Given the description of an element on the screen output the (x, y) to click on. 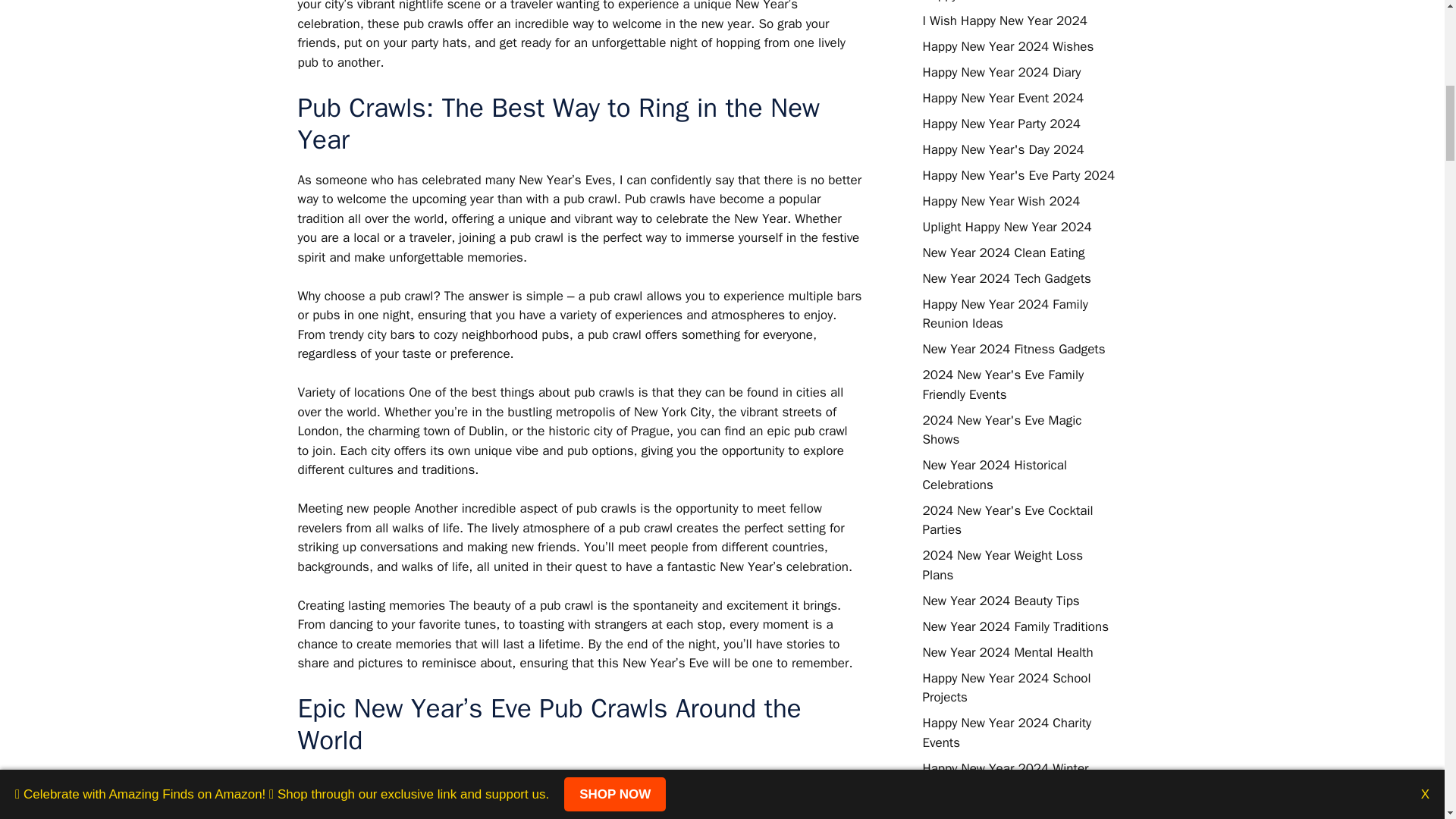
Happy New Year 2024 Wishes (1007, 46)
Happy New Year Party 2024 (1000, 123)
Happy New Year's Day 2024 (1002, 149)
I Wish Happy New Year 2024 (1003, 20)
Happy New Year's Eve Party 2024 (1018, 175)
Happy New Year 2024 Diary (1000, 72)
Happy New Year Wish 2024 (1000, 201)
Happy New Year 2024 (984, 1)
Happy New Year Event 2024 (1002, 98)
